Given the description of an element on the screen output the (x, y) to click on. 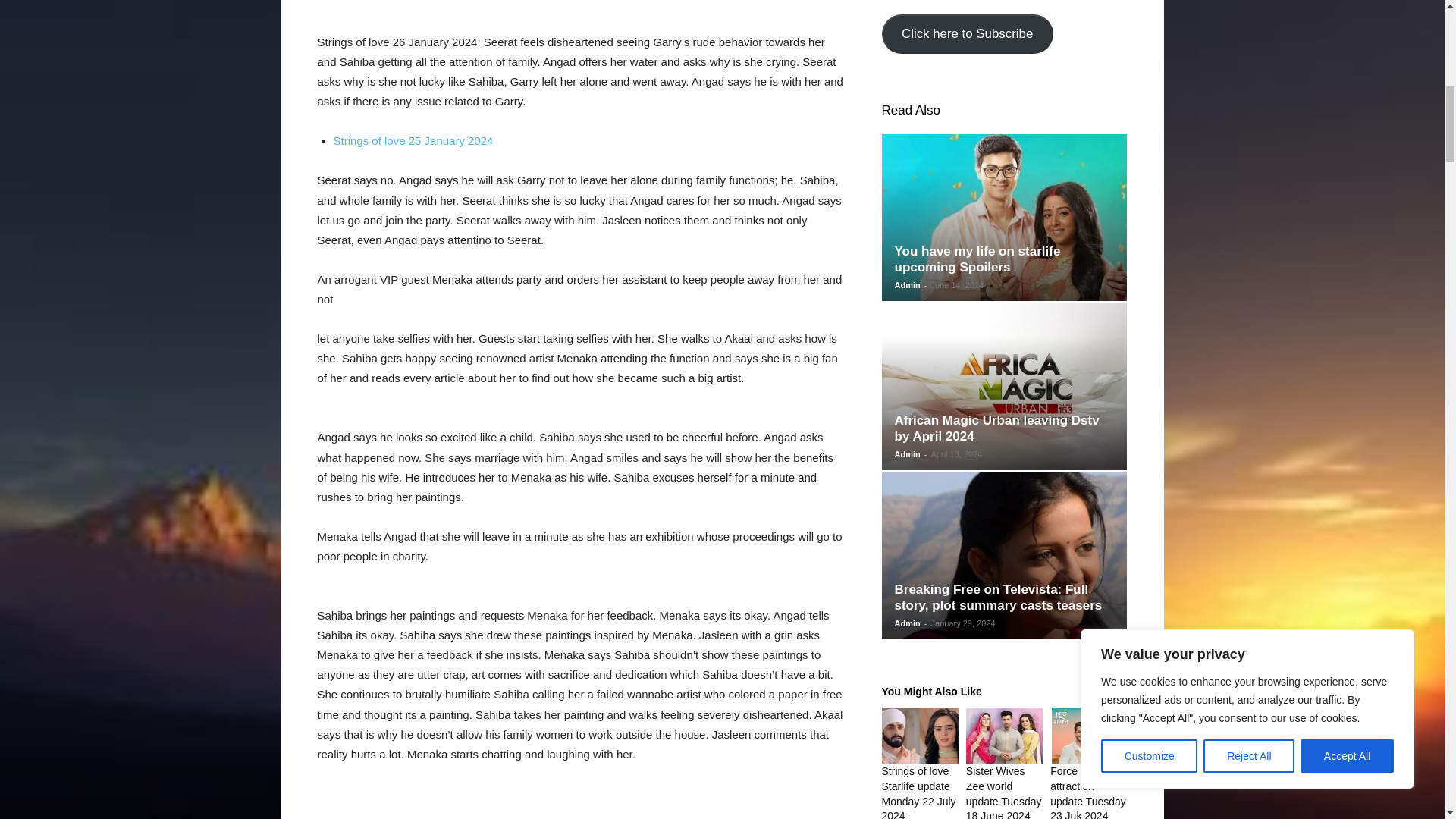
Advertisement (580, 16)
